Given the description of an element on the screen output the (x, y) to click on. 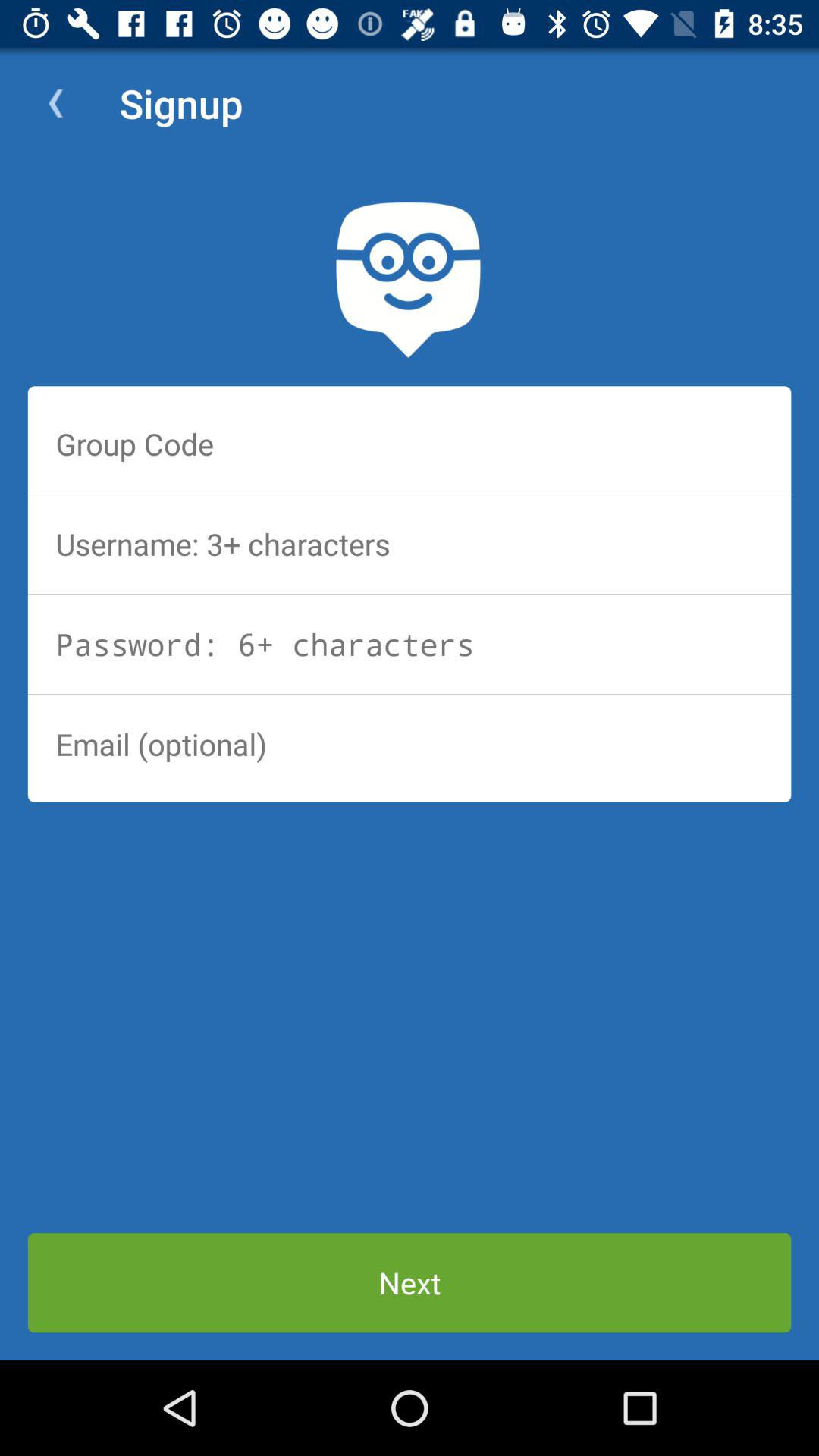
enter email address (409, 743)
